Given the description of an element on the screen output the (x, y) to click on. 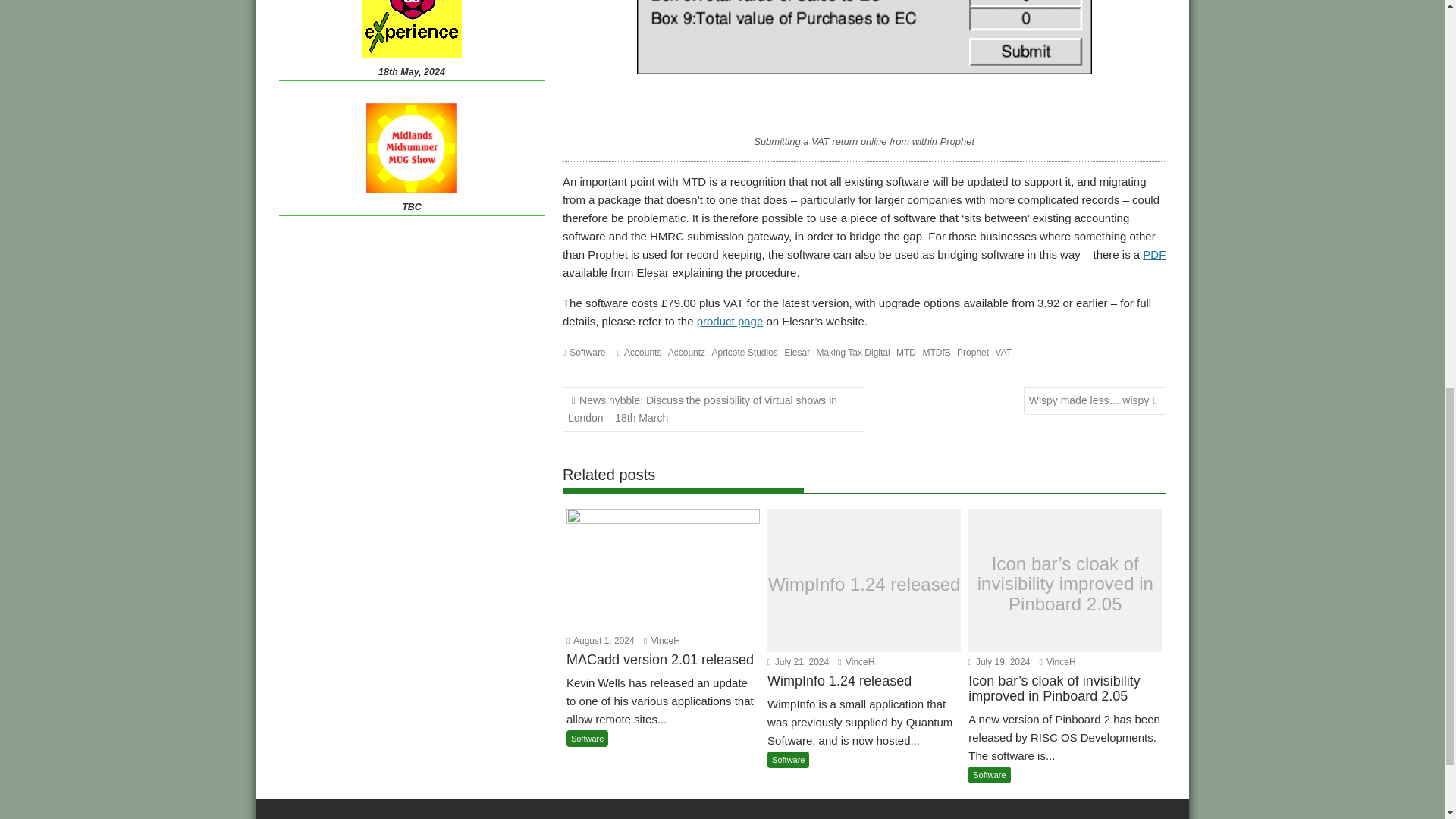
August 1, 2024 (600, 640)
PDF (1154, 254)
Making Tax Digital (852, 352)
MTD (905, 352)
Accounts (642, 352)
Prophet (972, 352)
MTDfB (935, 352)
product page (729, 320)
VinceH (1057, 661)
Apricote Studios (744, 352)
Software (587, 352)
Elesar (796, 352)
VinceH (856, 661)
MACadd version 2.01 released (663, 669)
VinceH (661, 640)
